Given the description of an element on the screen output the (x, y) to click on. 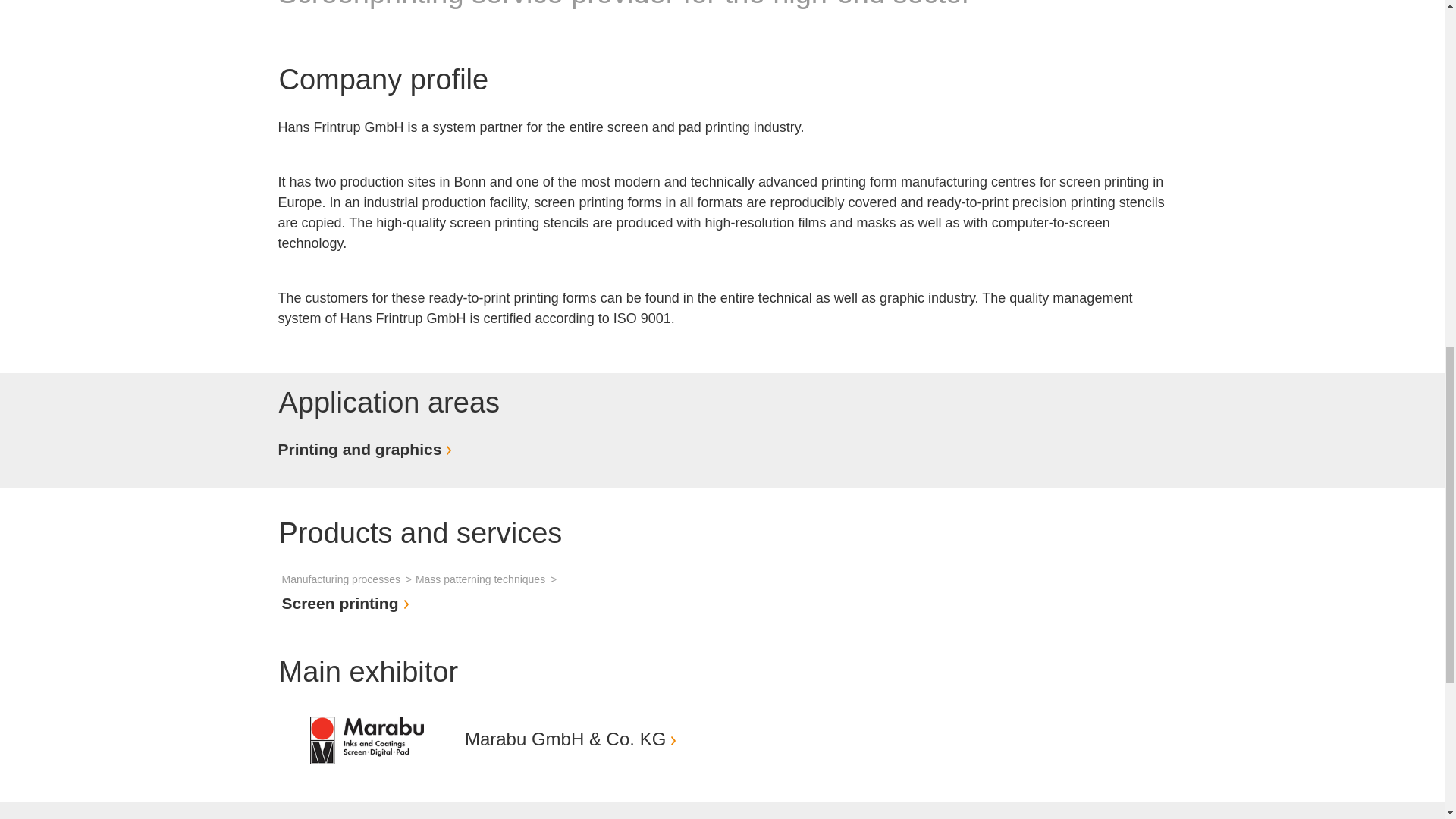
Printing and graphics (367, 448)
Screen printing (347, 602)
Mass patterning techniques (487, 579)
Manufacturing processes (348, 579)
Exhibitor for Application area: Printing and graphics (367, 448)
